Given the description of an element on the screen output the (x, y) to click on. 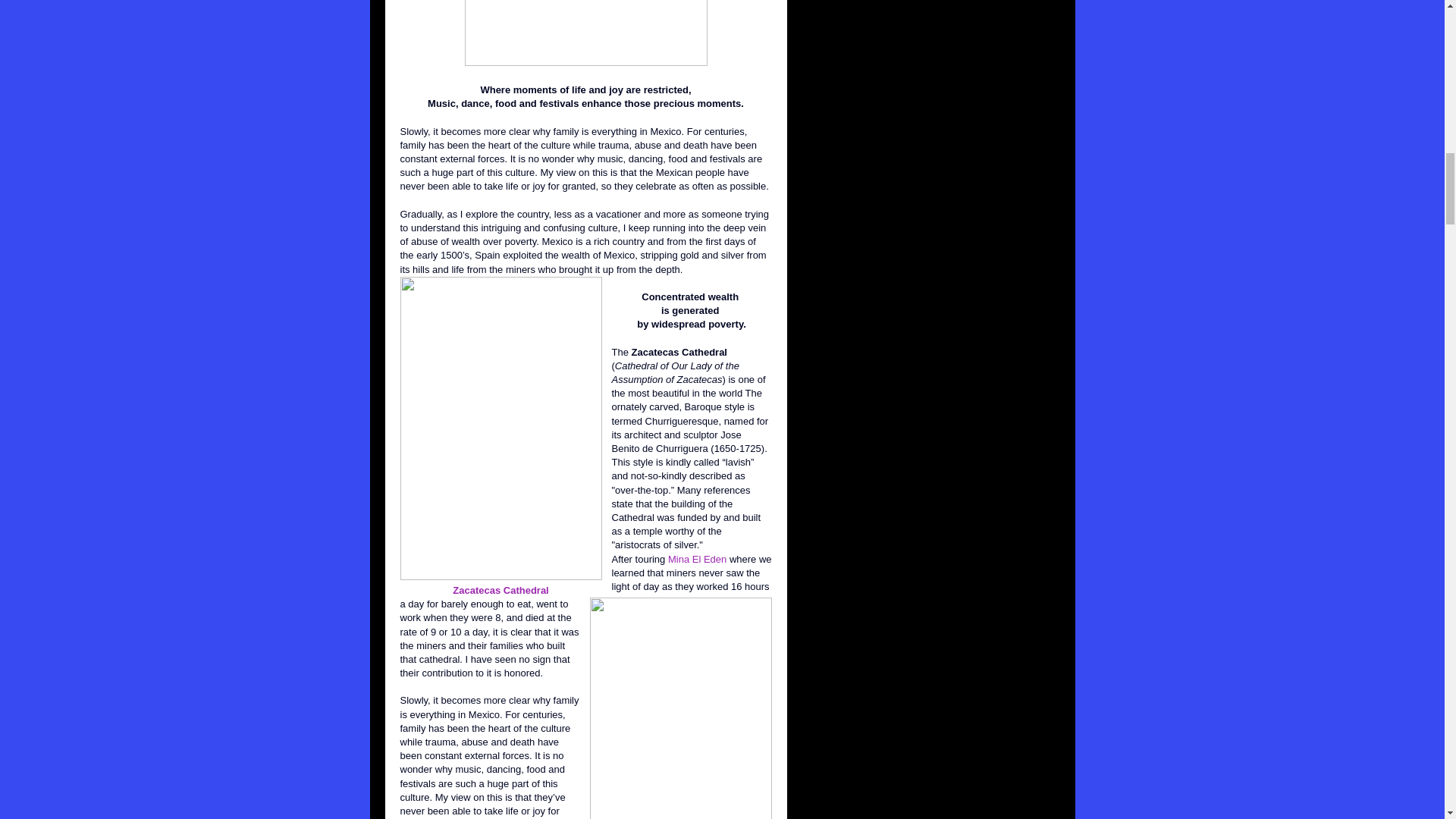
Zacatecas Cathedral (500, 590)
Mina El Eden (697, 559)
